Given the description of an element on the screen output the (x, y) to click on. 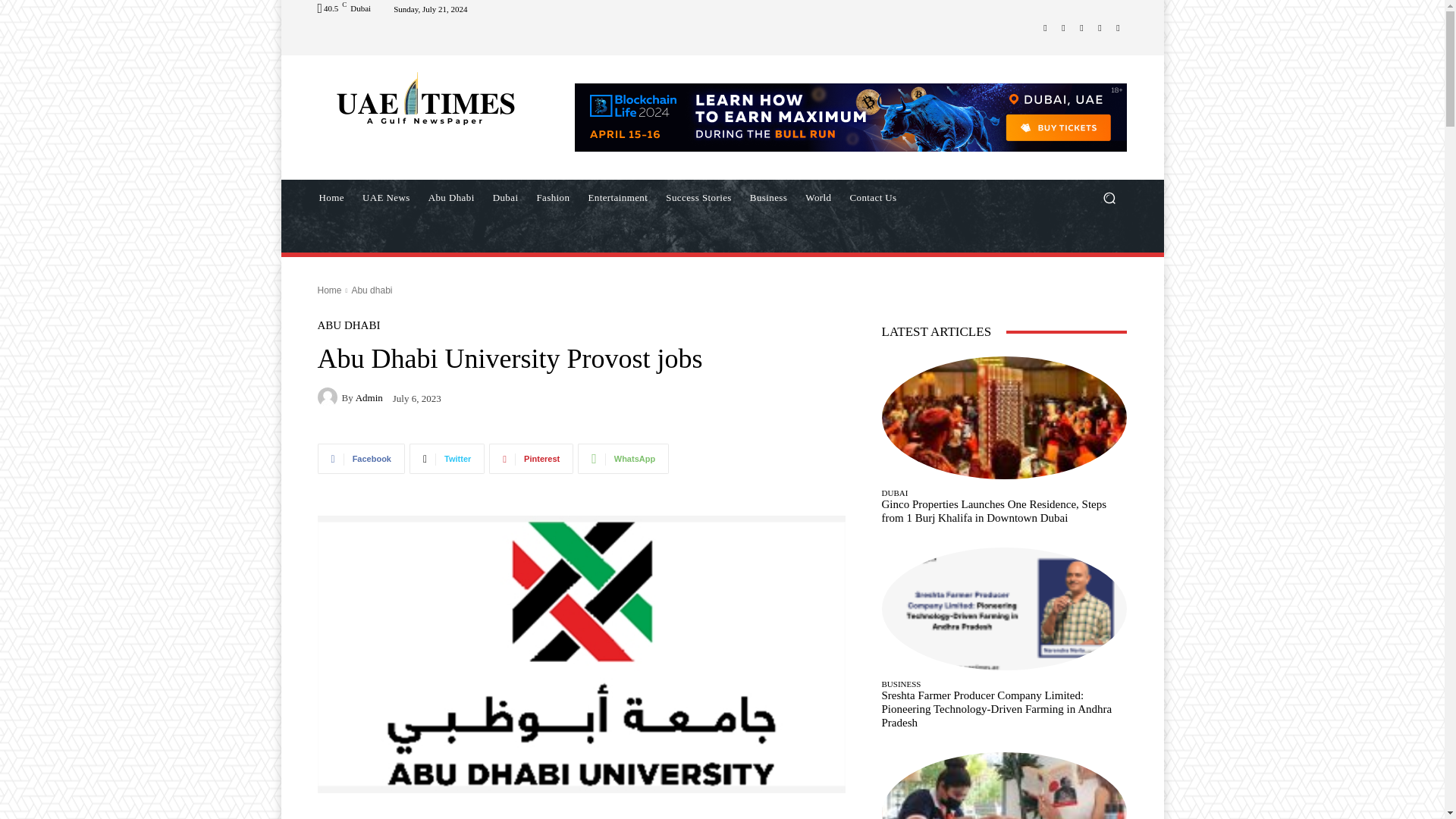
Twitter (1099, 27)
Dubai (505, 197)
Home (330, 197)
Facebook (1044, 27)
Instagram (1062, 27)
Contact Us (872, 197)
Success Stories (698, 197)
Abu Dhabi (451, 197)
Mail (1080, 27)
WhatsApp (1117, 27)
Fashion (552, 197)
Business (768, 197)
World (818, 197)
Entertainment (617, 197)
UAE News (386, 197)
